Given the description of an element on the screen output the (x, y) to click on. 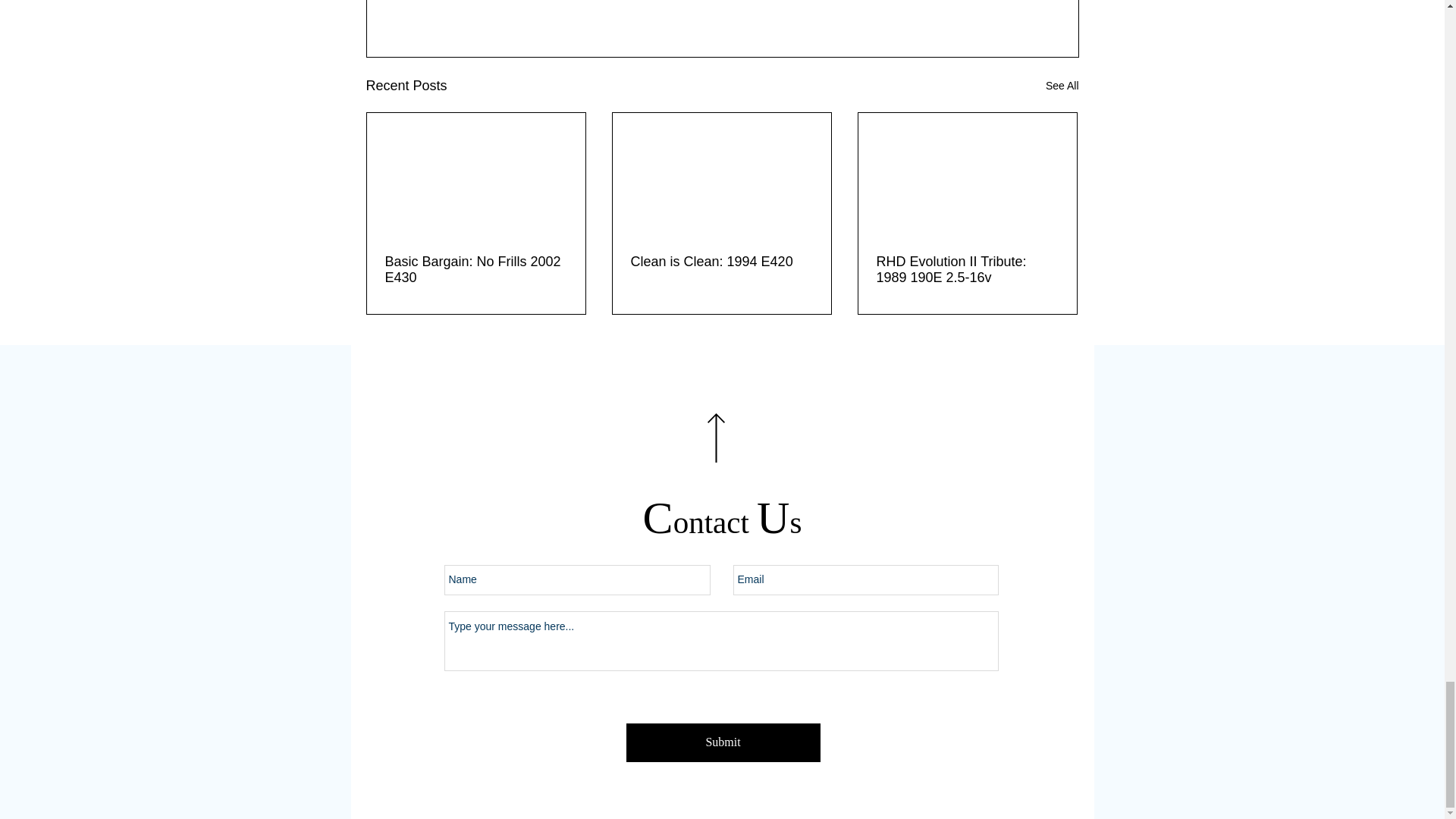
Submit (723, 742)
Basic Bargain: No Frills 2002 E430 (476, 269)
RHD Evolution II Tribute: 1989 190E 2.5-16v (967, 269)
Clean is Clean: 1994 E420 (721, 261)
See All (1061, 86)
